Given the description of an element on the screen output the (x, y) to click on. 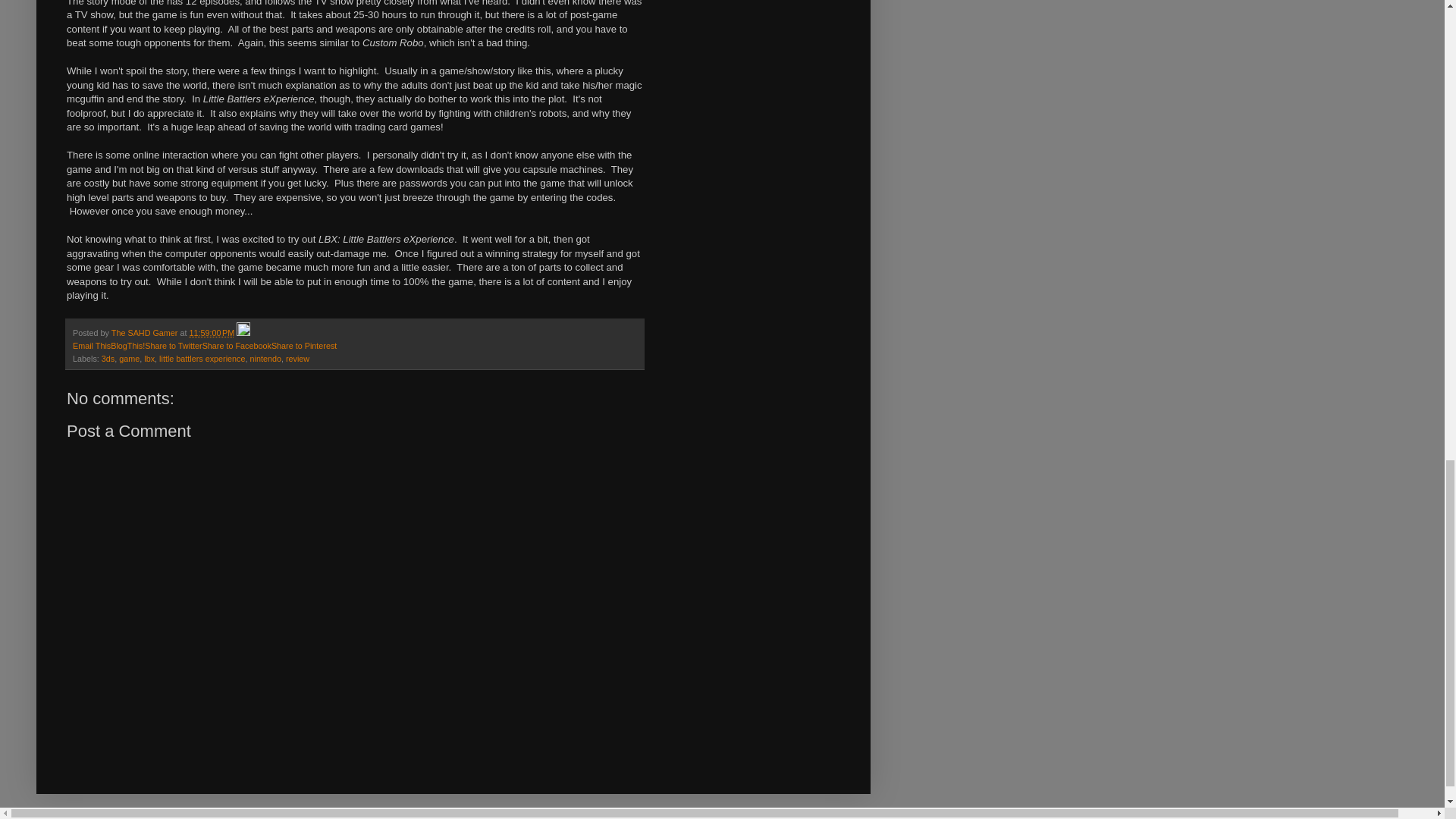
Share to Pinterest (303, 345)
The SAHD Gamer (146, 332)
BlogThis! (127, 345)
review (296, 358)
Share to Twitter (173, 345)
lbx (149, 358)
BlogThis! (127, 345)
3ds (108, 358)
Edit Post (242, 332)
